Given the description of an element on the screen output the (x, y) to click on. 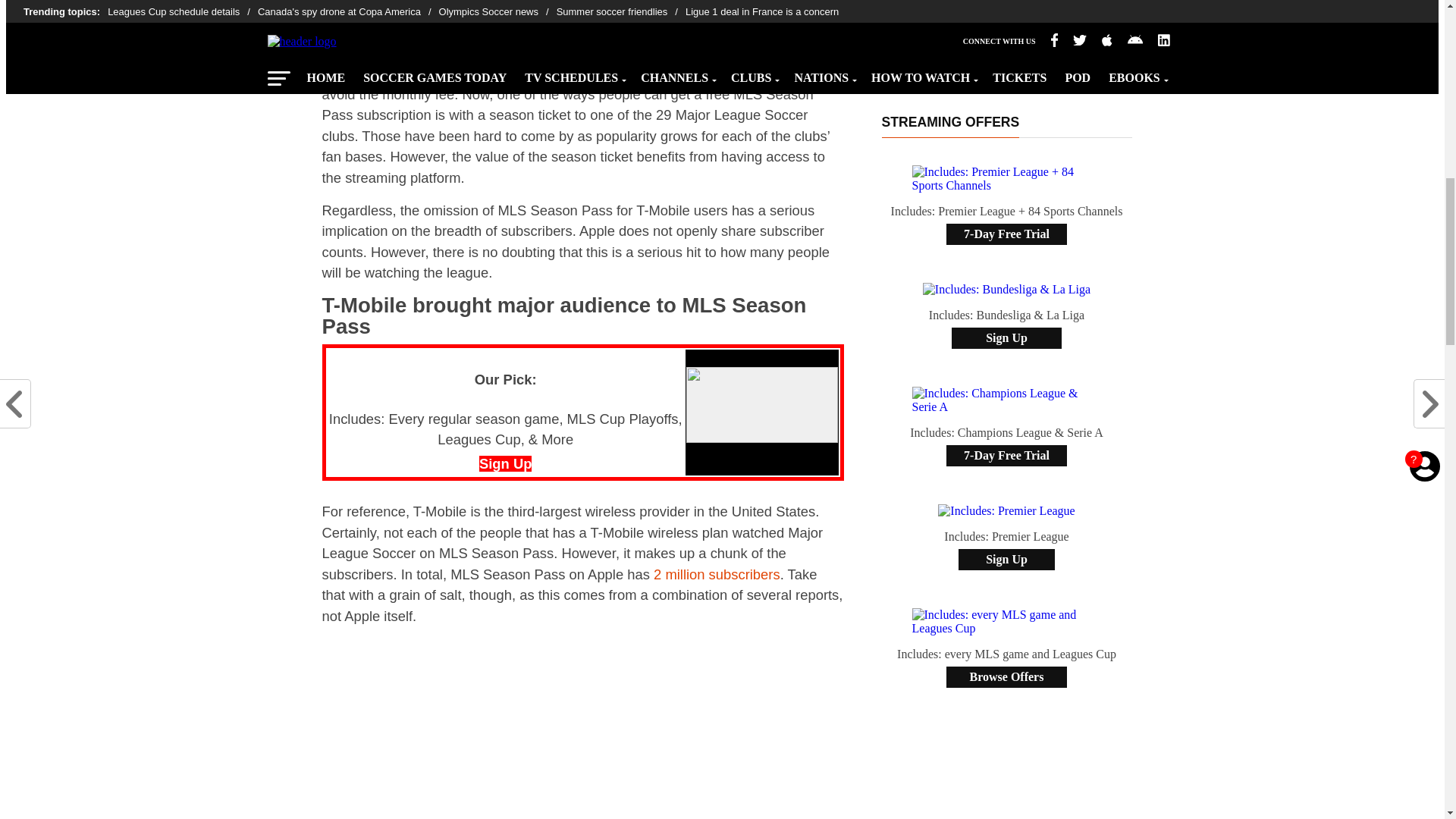
get MLS Season Pass for free (651, 73)
2 million subscribers (716, 574)
Sign Up (505, 463)
